Given the description of an element on the screen output the (x, y) to click on. 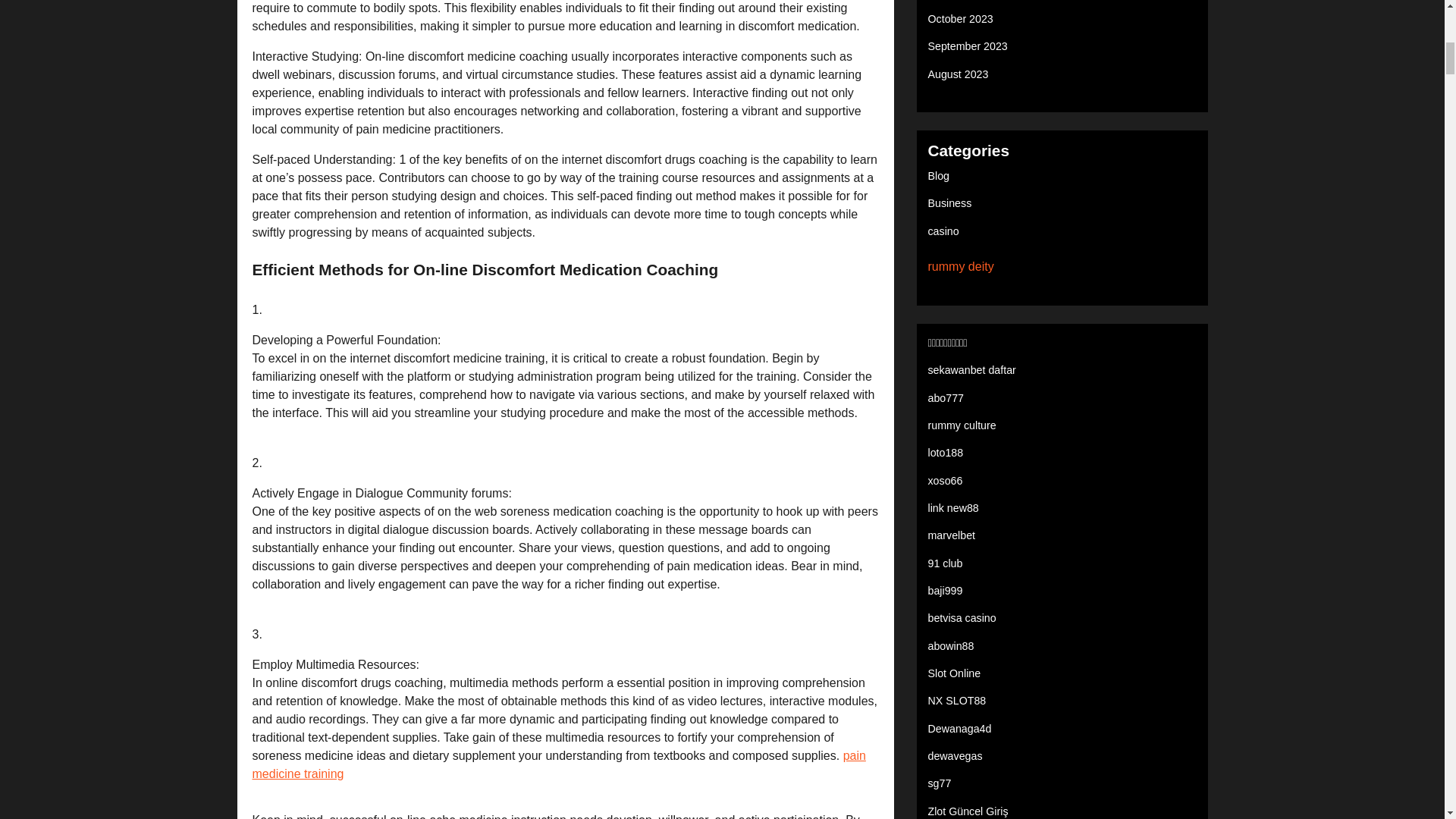
casino (943, 231)
August 2023 (958, 73)
sekawanbet daftar (972, 369)
pain medicine training (557, 764)
Blog (939, 175)
Business (950, 203)
rummy deity (961, 266)
September 2023 (967, 46)
October 2023 (960, 19)
